Given the description of an element on the screen output the (x, y) to click on. 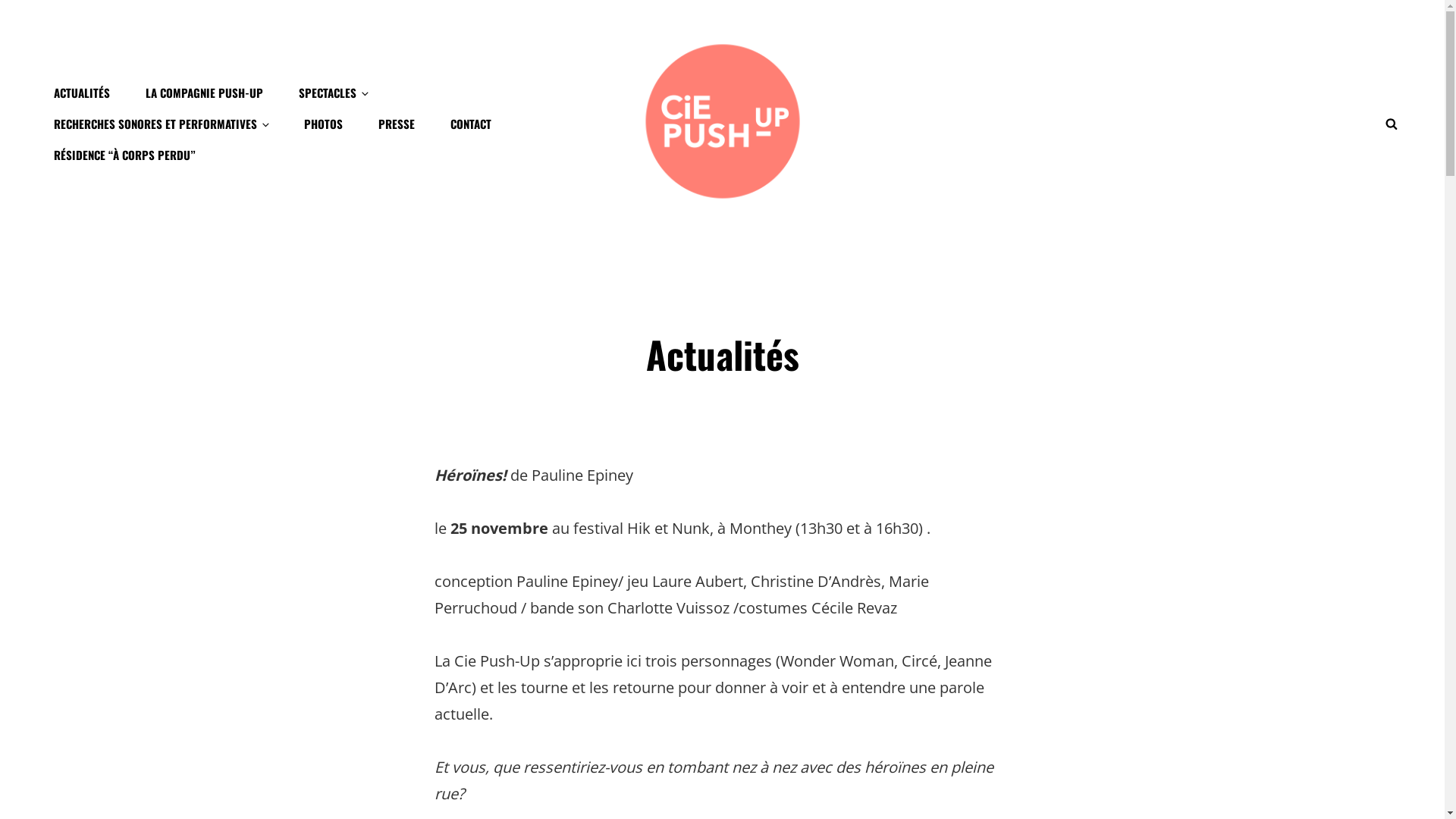
LA COMPAGNIE PUSH-UP Element type: text (204, 92)
RECHERCHES SONORES ET PERFORMATIVES Element type: text (160, 123)
PHOTOS Element type: text (323, 123)
SPECTACLES Element type: text (332, 92)
SEARCH Element type: text (1391, 123)
PRESSE Element type: text (396, 123)
CONTACT Element type: text (470, 123)
